Given the description of an element on the screen output the (x, y) to click on. 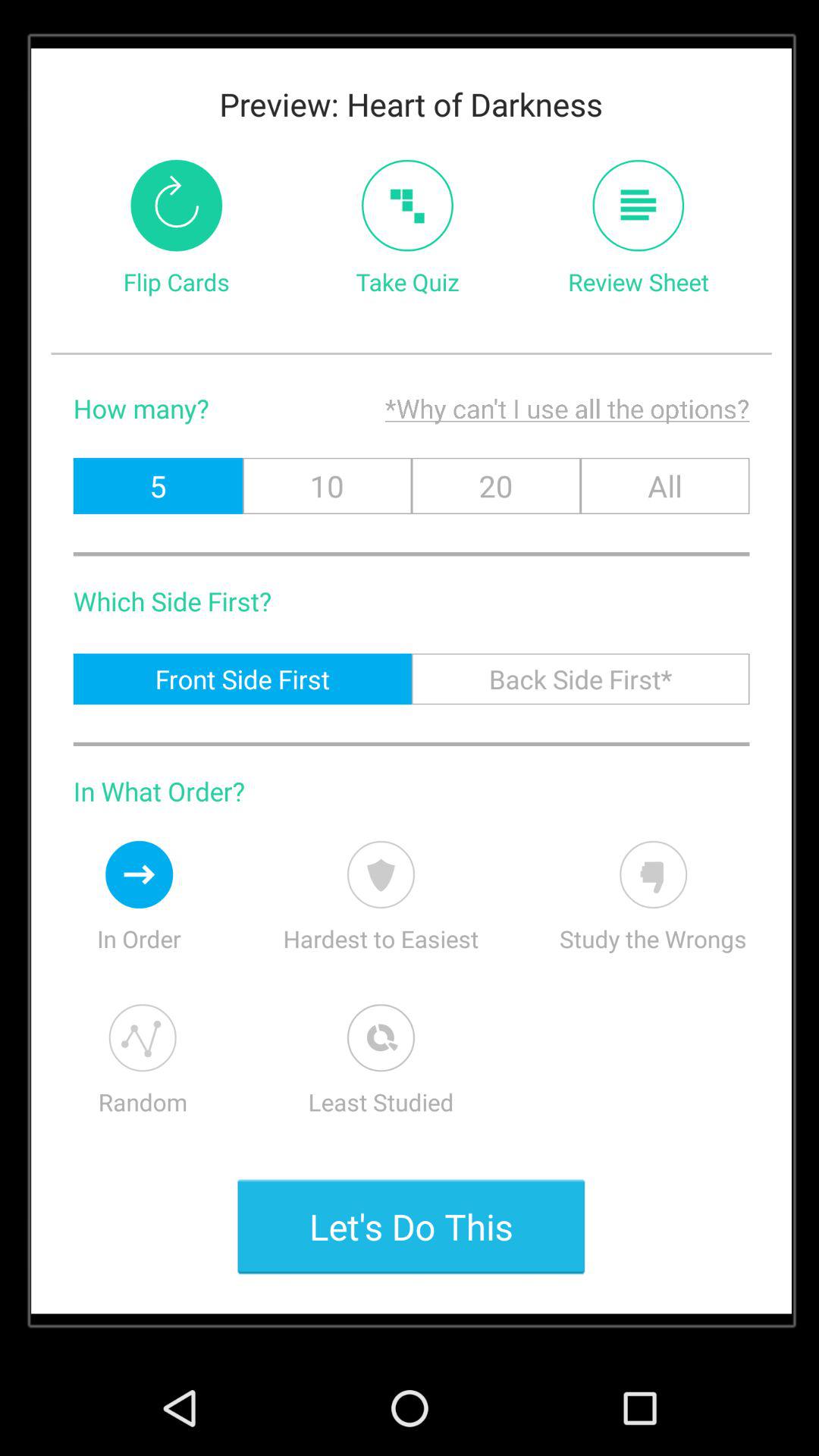
toggle flip cards (176, 205)
